Given the description of an element on the screen output the (x, y) to click on. 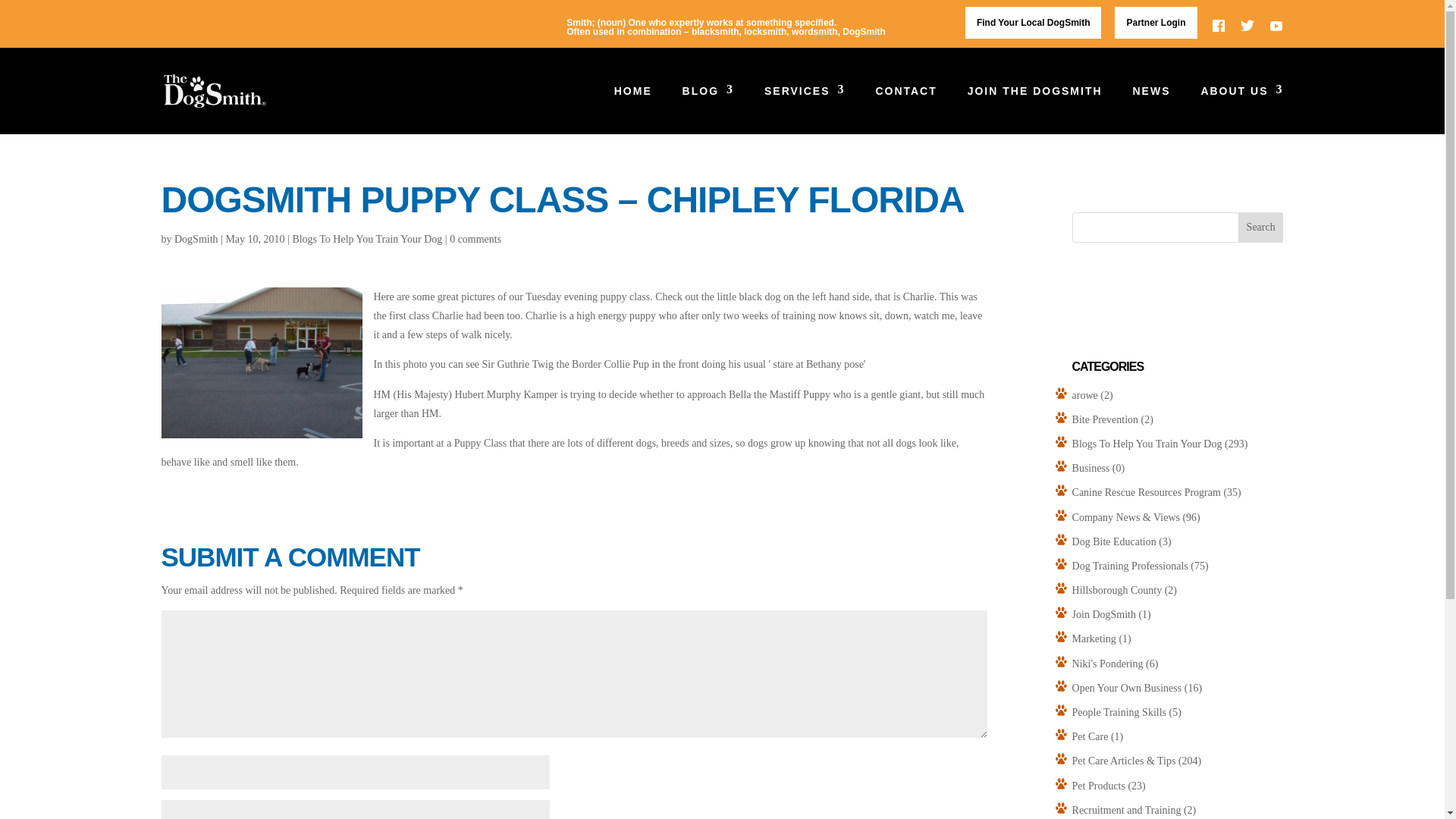
ABOUT US (1240, 109)
Blogs To Help You Train Your Dog (367, 238)
0 comments (474, 238)
BLOG (707, 109)
Posts by DogSmith (196, 238)
CONTACT (905, 109)
Partner Login (1155, 22)
Search (1261, 227)
Find Your Local DogSmith (1033, 22)
SERVICES (804, 109)
JOIN THE DOGSMITH (1035, 109)
DogSmith (196, 238)
